Given the description of an element on the screen output the (x, y) to click on. 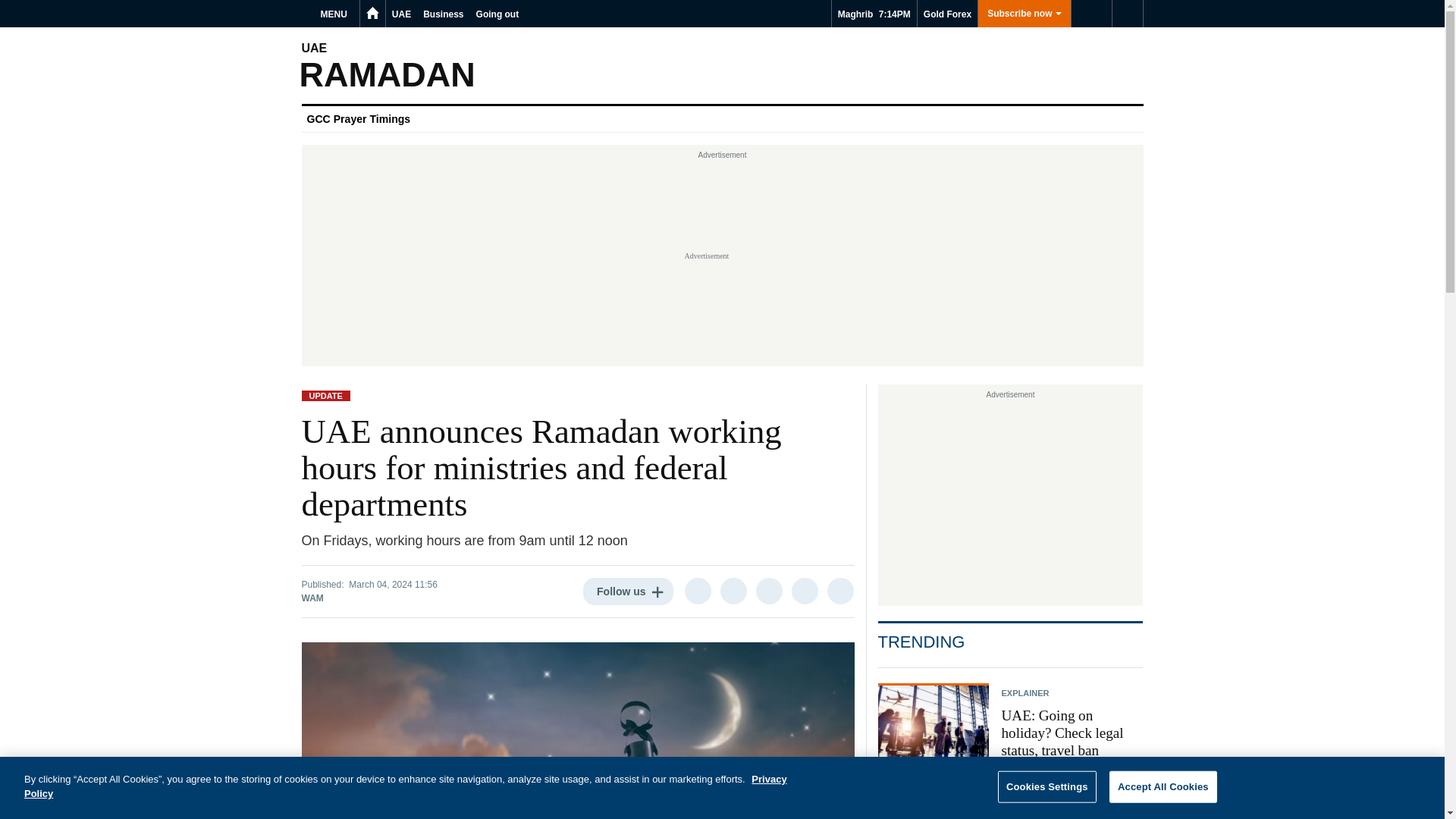
MENU (336, 13)
3rd party ad content (1010, 498)
UAE (400, 13)
Going out (497, 13)
Subscribe now (1024, 13)
Maghrib 7:14PM (874, 13)
Gold Forex (946, 13)
Business (442, 13)
